Given the description of an element on the screen output the (x, y) to click on. 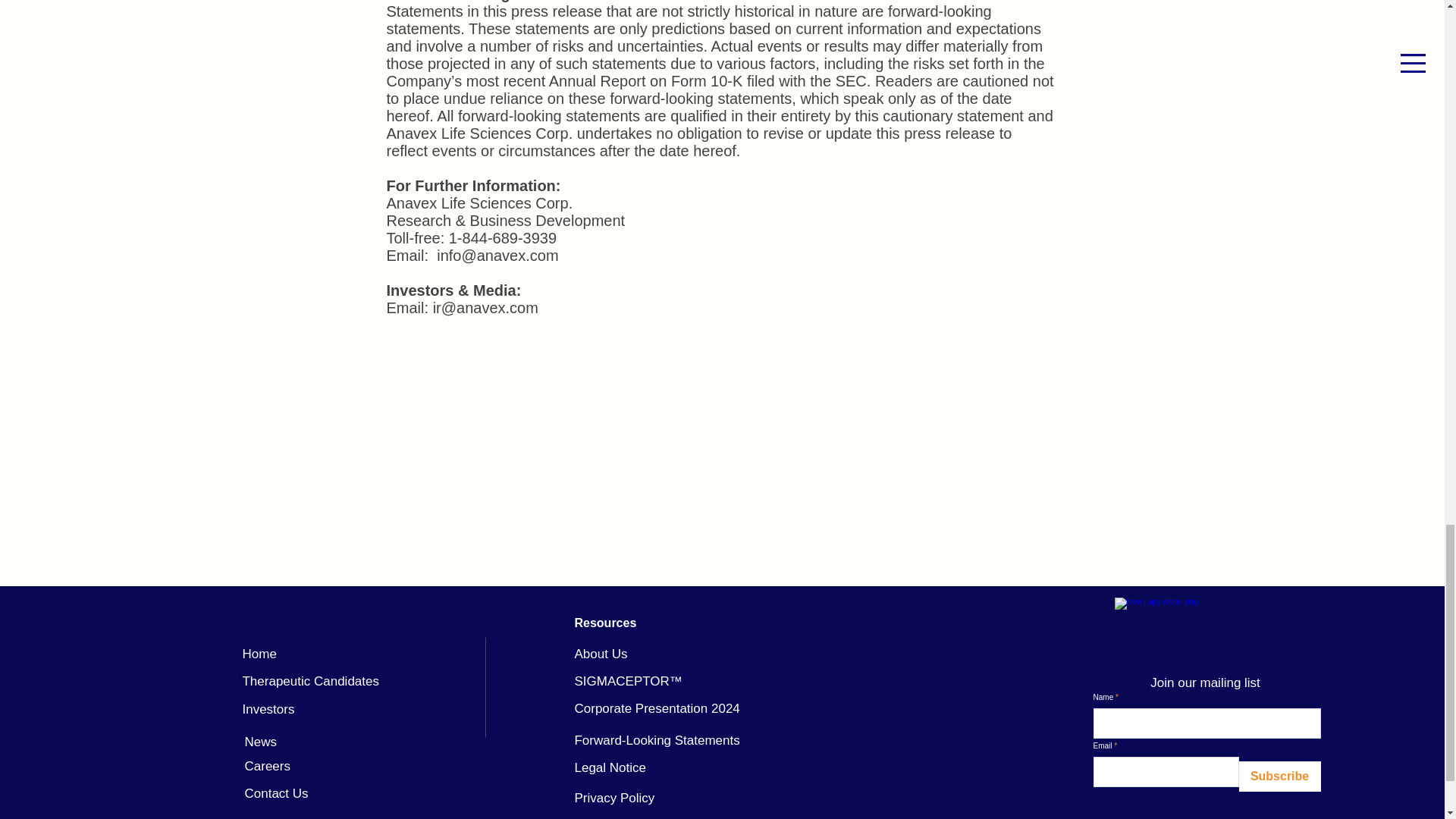
Contact Us (275, 793)
Home (258, 653)
Privacy Policy (613, 798)
Forward-Looking Statements (656, 740)
Subscribe (1279, 776)
News (260, 741)
Therapeutic Candidates (309, 681)
Careers (266, 766)
Legal Notice (609, 767)
Corporate Presentation 2024 (656, 708)
About Us (600, 653)
Investors (267, 708)
